Given the description of an element on the screen output the (x, y) to click on. 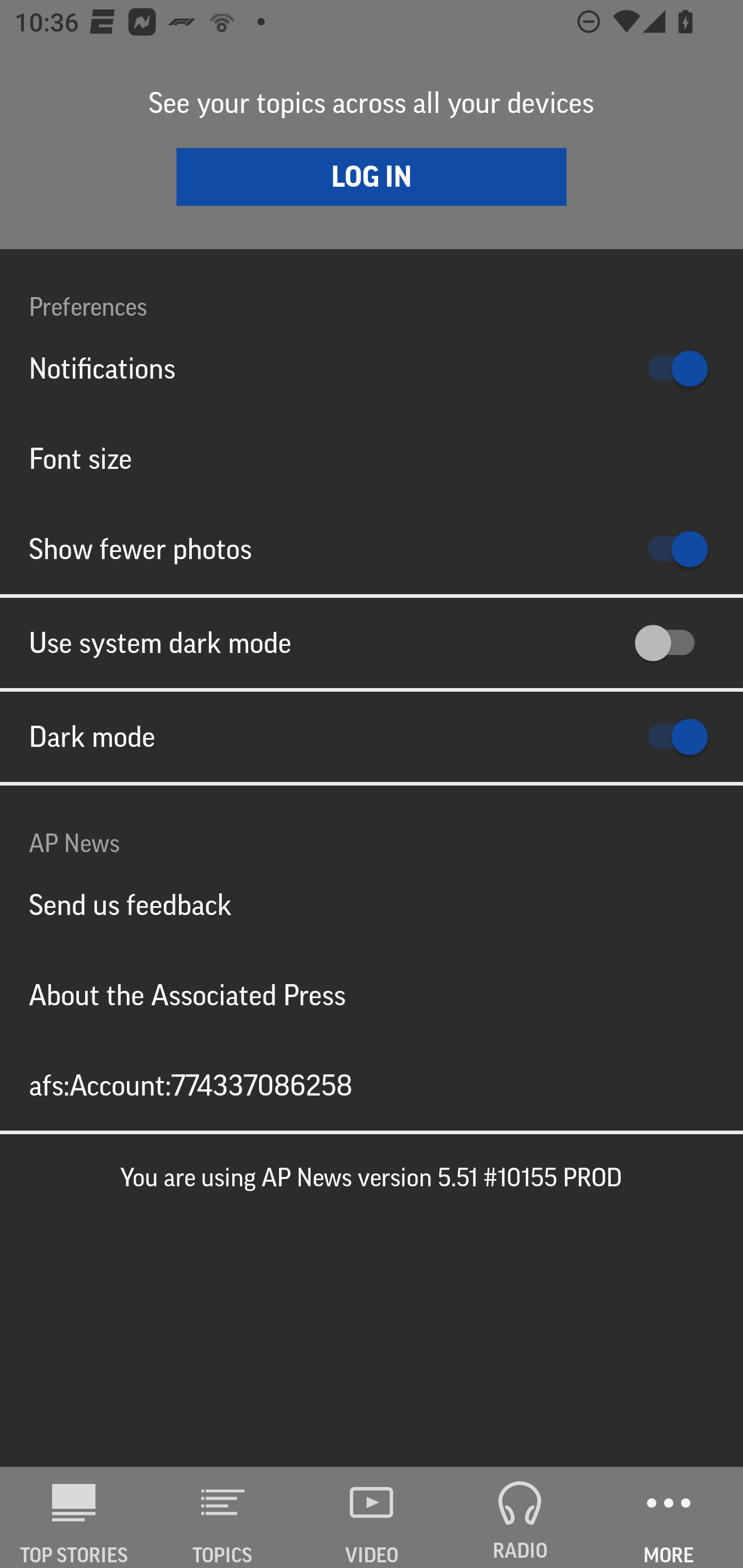
LOG IN (371, 176)
Notifications (371, 368)
Font size (371, 458)
Show fewer photos (371, 548)
Use system dark mode (371, 642)
Dark mode (371, 736)
Send us feedback (371, 904)
About the Associated Press (371, 994)
afs:Account:774337086258 (371, 1084)
AP News TOP STORIES (74, 1517)
TOPICS (222, 1517)
VIDEO (371, 1517)
RADIO (519, 1517)
MORE (668, 1517)
